Given the description of an element on the screen output the (x, y) to click on. 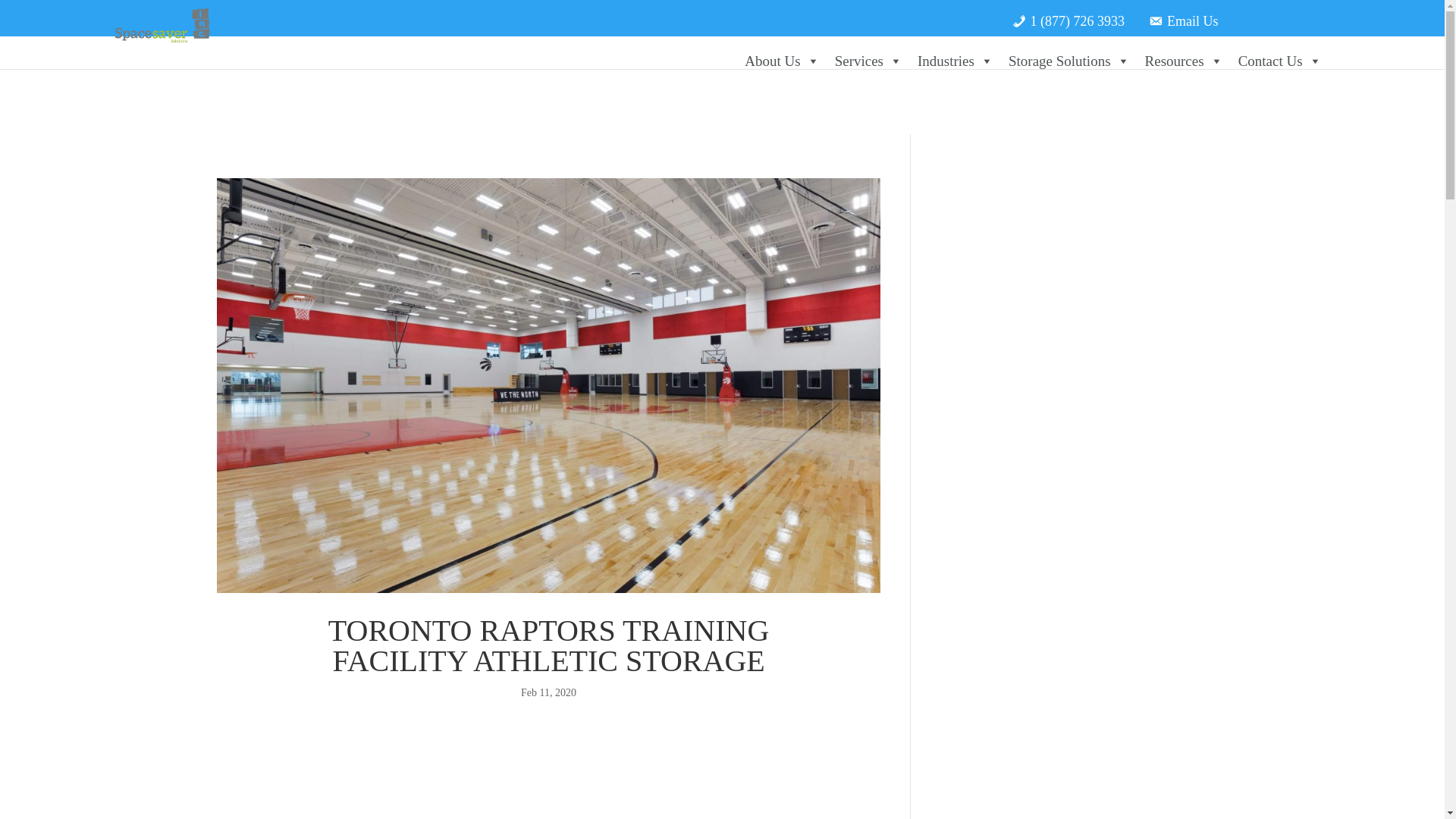
Email Us (1183, 15)
Services (868, 60)
Industries (955, 60)
About Us (781, 60)
Storage Solutions (1069, 60)
